Given the description of an element on the screen output the (x, y) to click on. 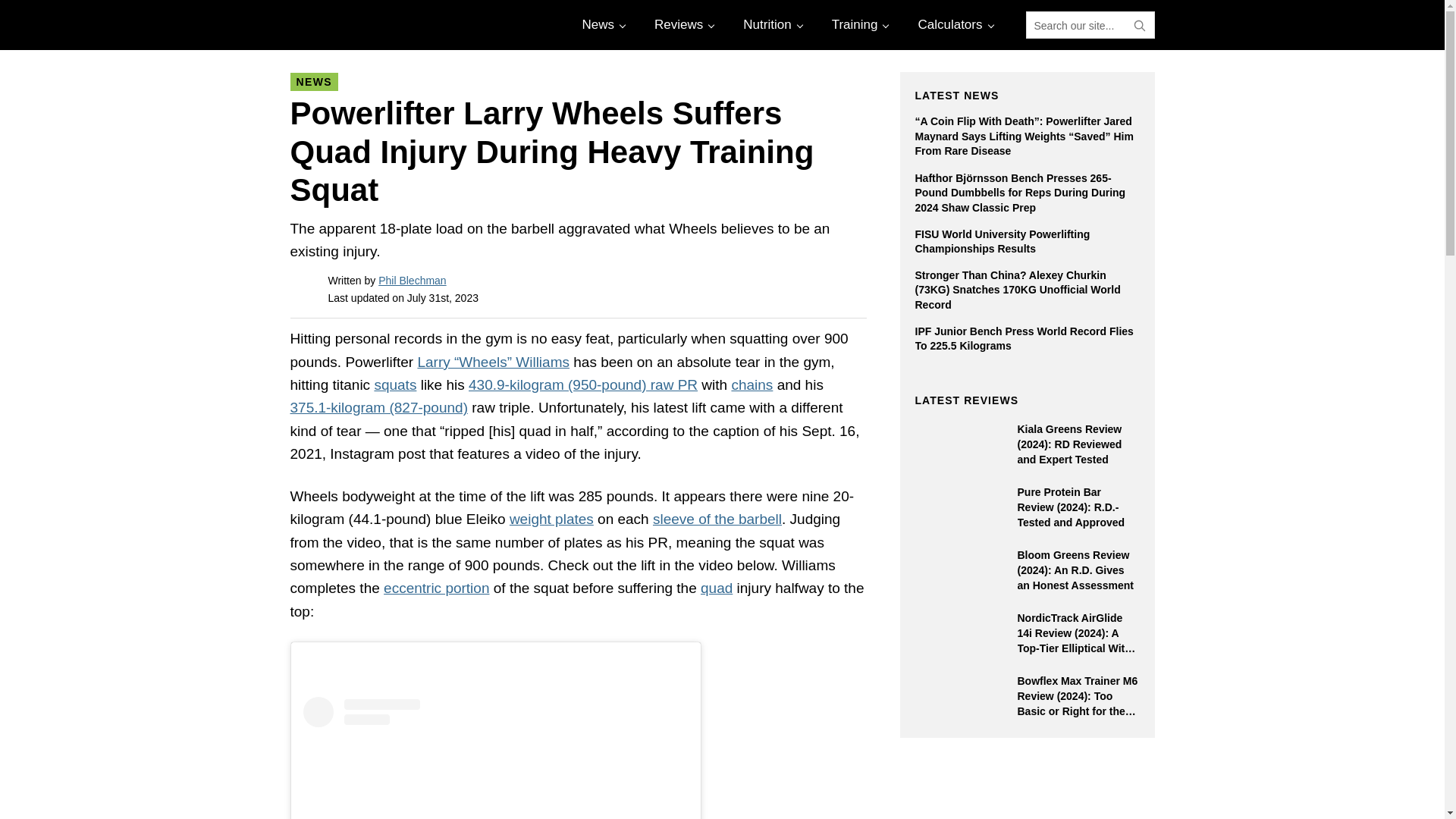
News (602, 24)
Reviews (682, 24)
